Given the description of an element on the screen output the (x, y) to click on. 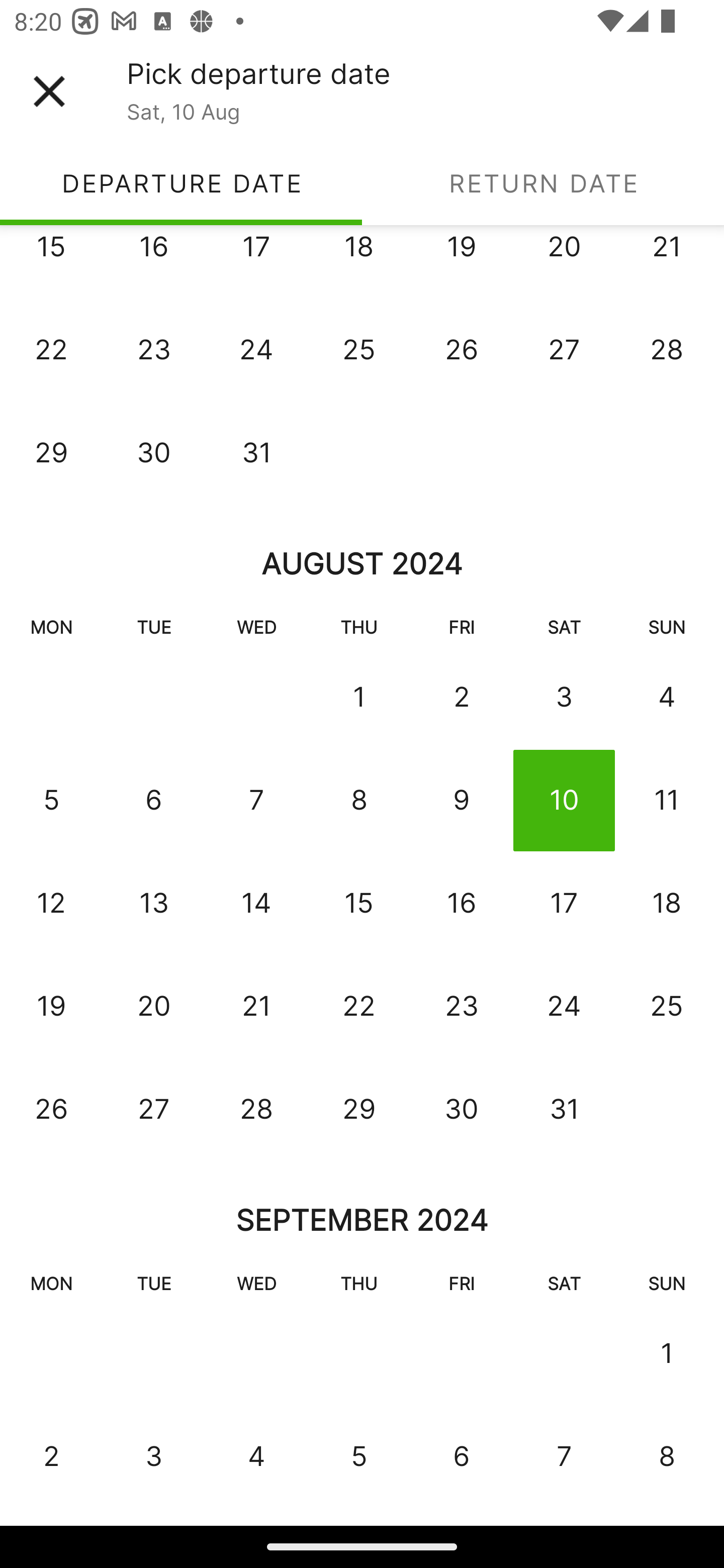
Return Date RETURN DATE (543, 183)
